Given the description of an element on the screen output the (x, y) to click on. 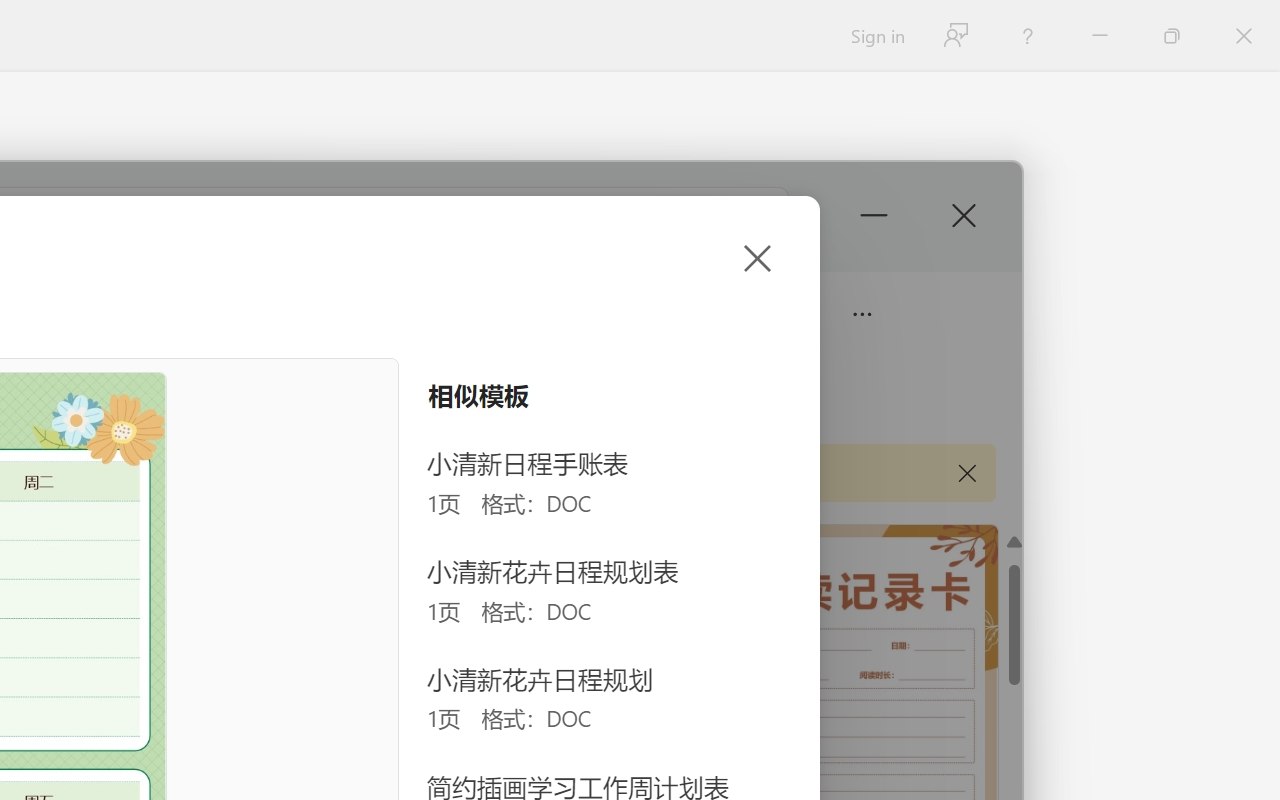
Sign in (875, 35)
